Given the description of an element on the screen output the (x, y) to click on. 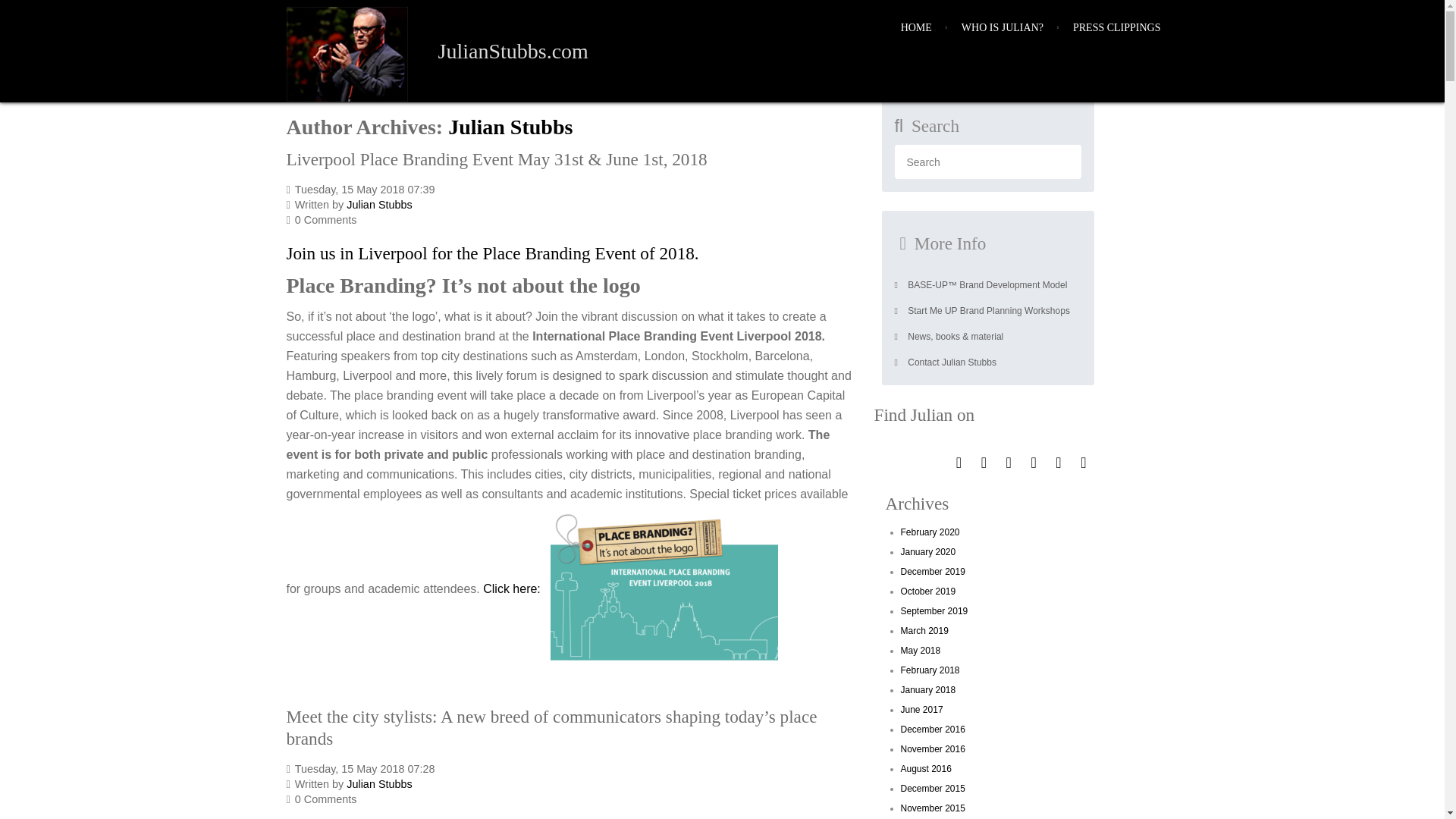
HOME (915, 28)
Julian Stubbs (510, 126)
Posts by Julian Stubbs (379, 204)
Julian Stubbs (379, 204)
Click here: (511, 588)
Join us in Liverpool for the Place Branding Event of 2018. (492, 252)
Search (988, 161)
Julian Stubbs (379, 784)
Posts by Julian Stubbs (379, 784)
WHO IS JULIAN? (1002, 28)
PRESS CLIPPINGS (1117, 28)
Julian Stubbs (510, 126)
